Given the description of an element on the screen output the (x, y) to click on. 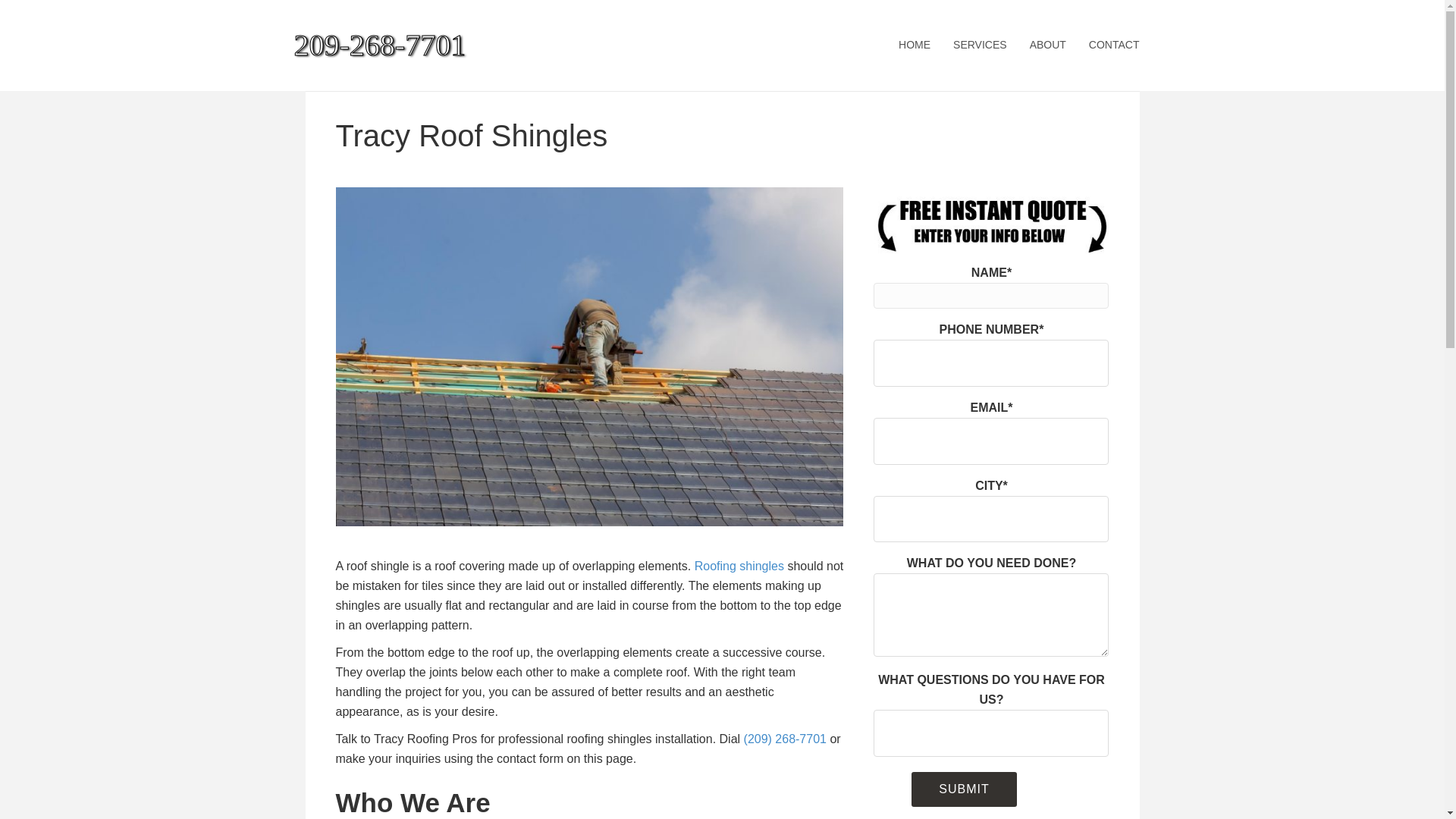
Submit (963, 788)
free quotes (990, 223)
